Given the description of an element on the screen output the (x, y) to click on. 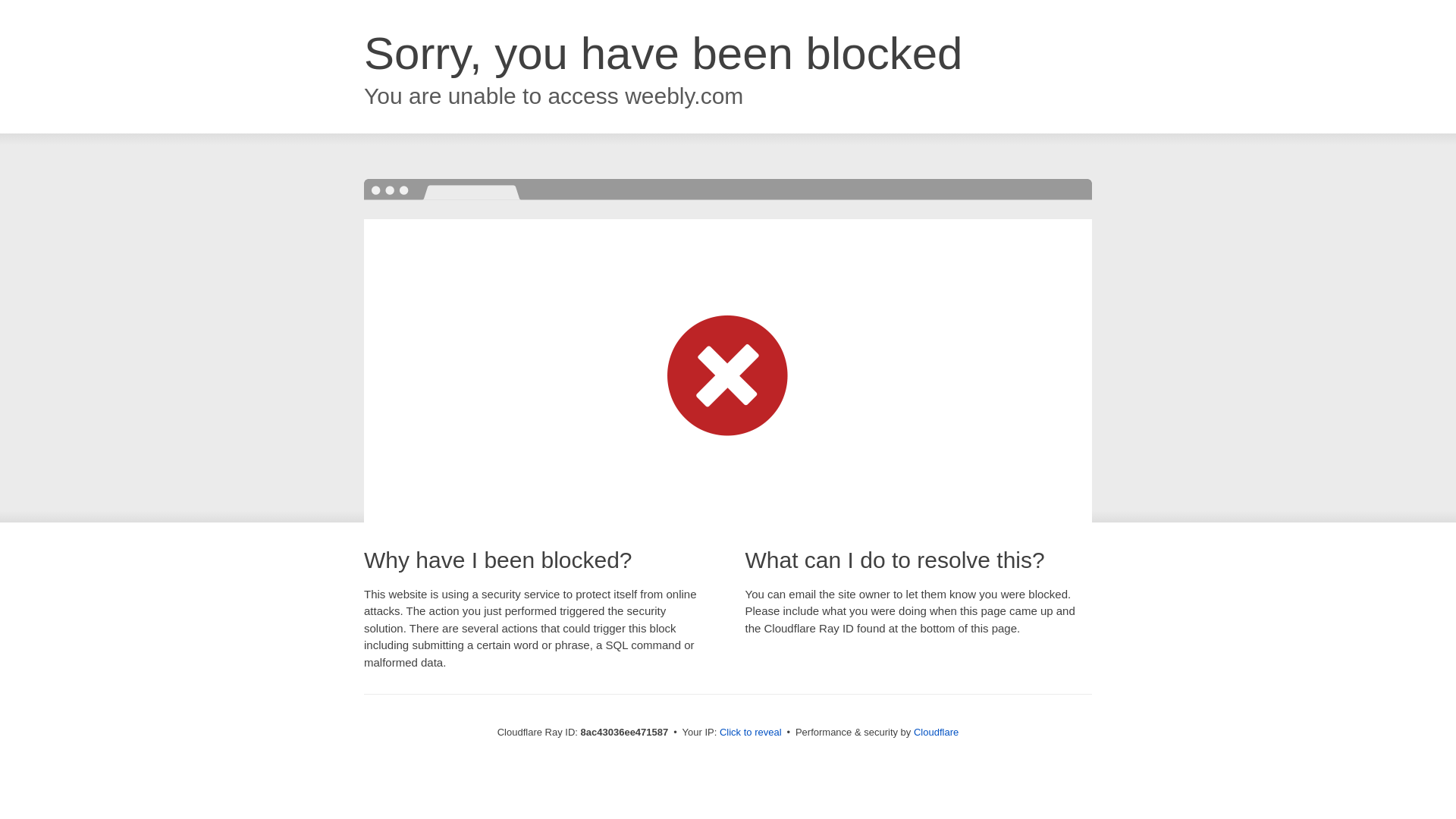
Click to reveal (750, 732)
Cloudflare (936, 731)
